Given the description of an element on the screen output the (x, y) to click on. 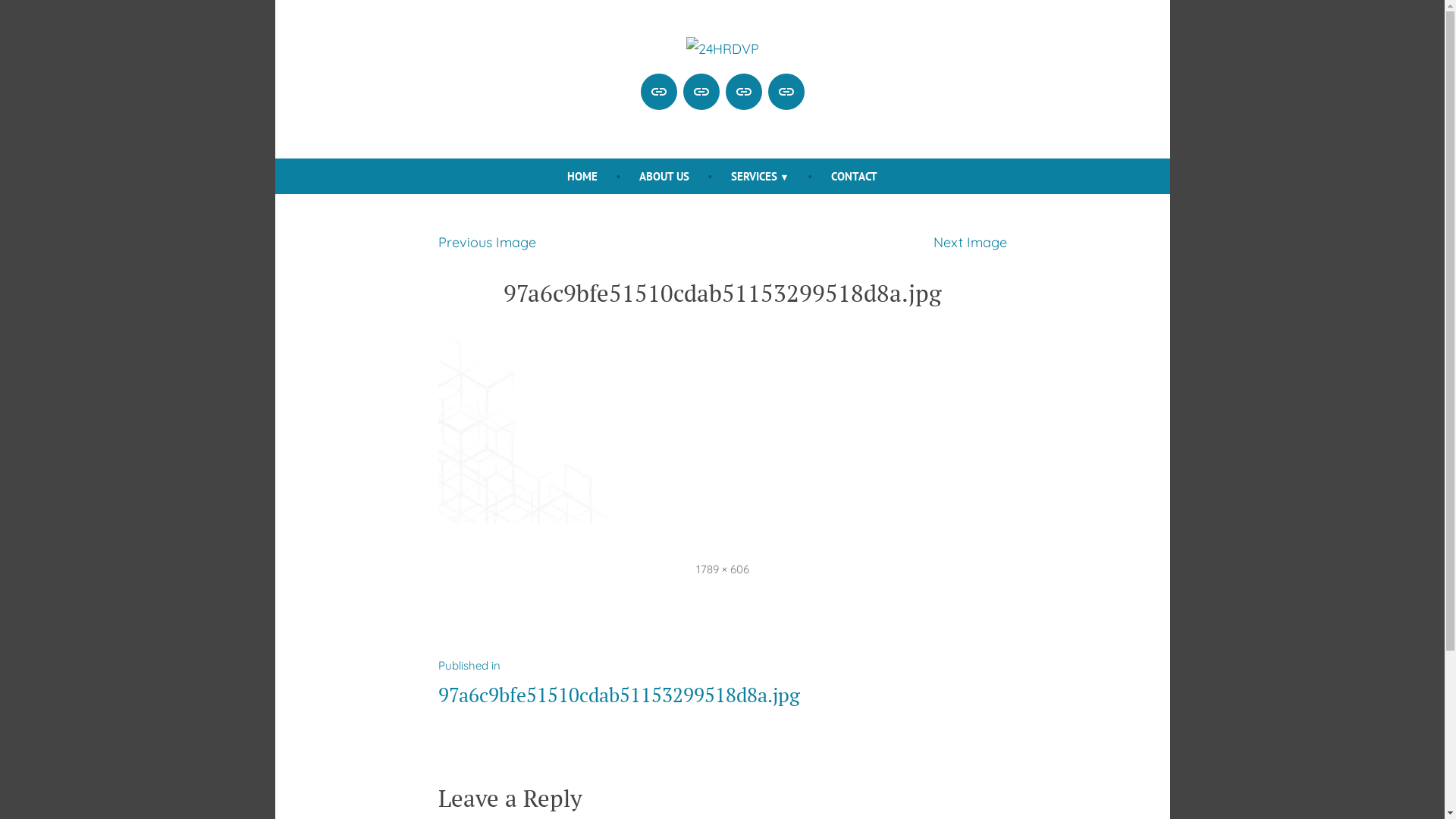
Published in
97a6c9bfe51510cdab51153299518d8a.jpg Element type: text (619, 680)
HOME Element type: text (582, 176)
Previous Image Element type: text (487, 242)
CONTACT Element type: text (854, 176)
ABOUT US Element type: text (664, 176)
Next Image Element type: text (969, 242)
SERVICES Element type: text (759, 176)
24HRDVP Element type: text (746, 86)
